Given the description of an element on the screen output the (x, y) to click on. 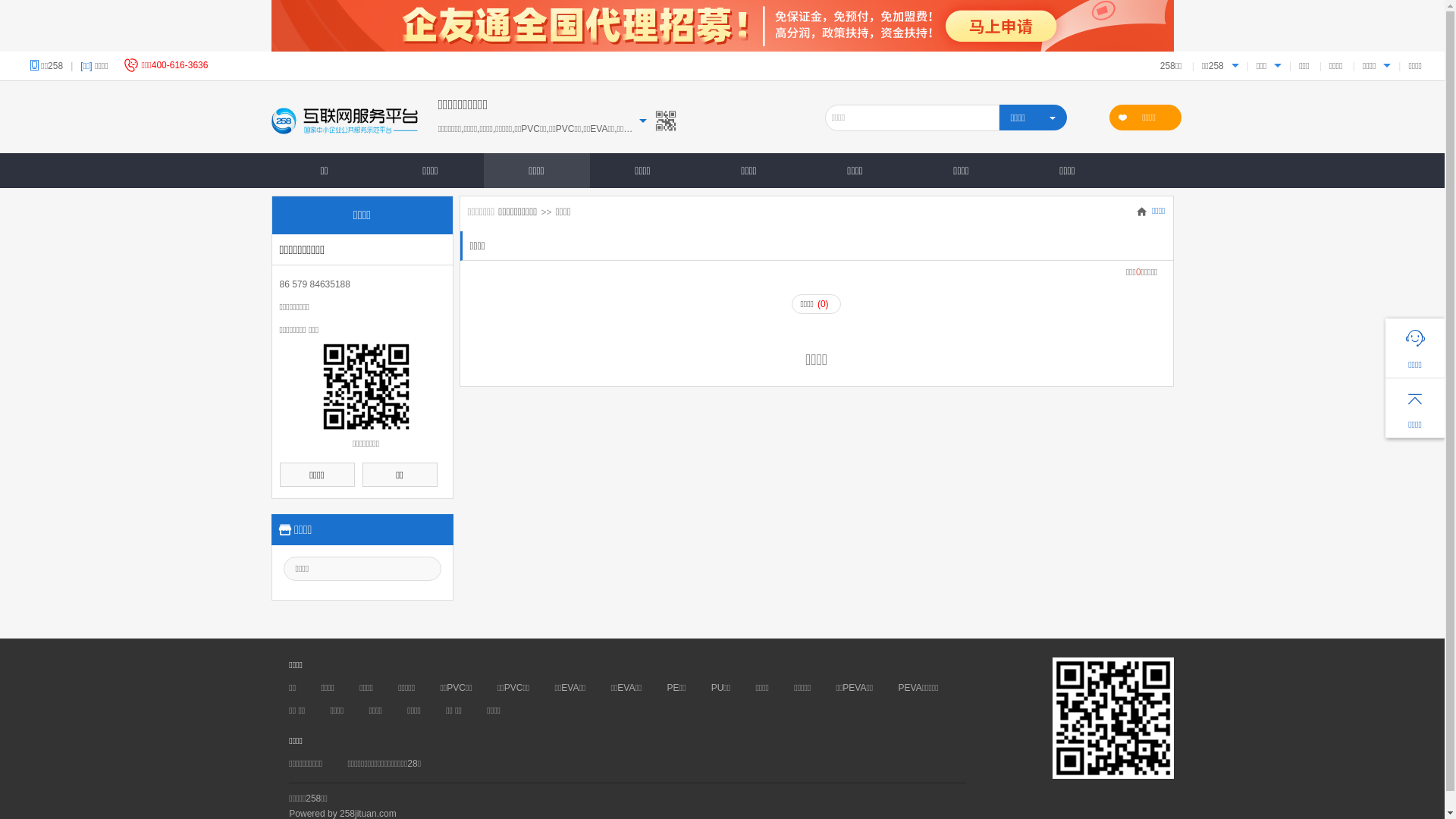
http://m.258jituan.com/shop-zjcxgmyxgs627 Element type: hover (365, 386)
